Given the description of an element on the screen output the (x, y) to click on. 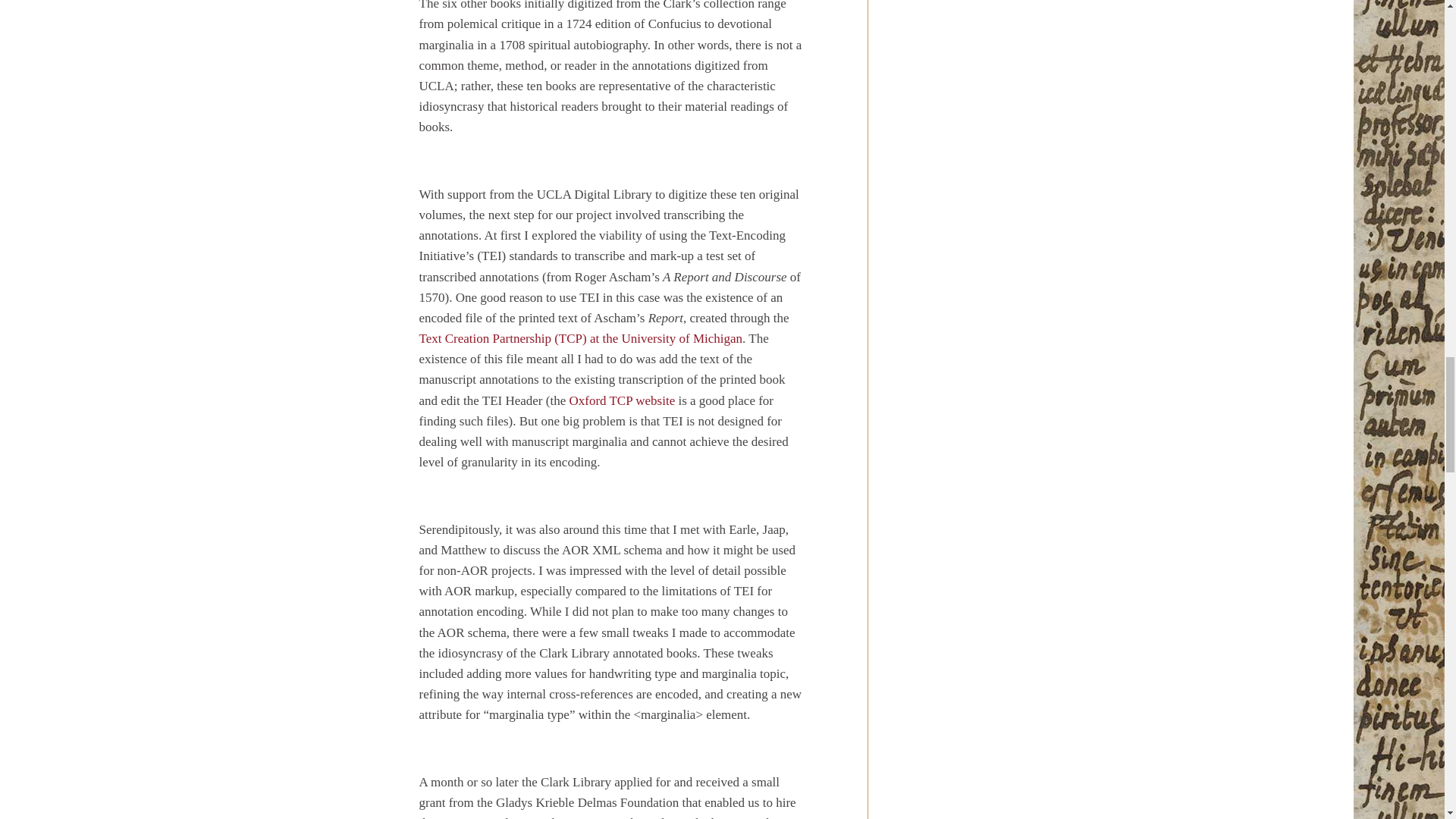
Oxford TCP website (622, 400)
